Given the description of an element on the screen output the (x, y) to click on. 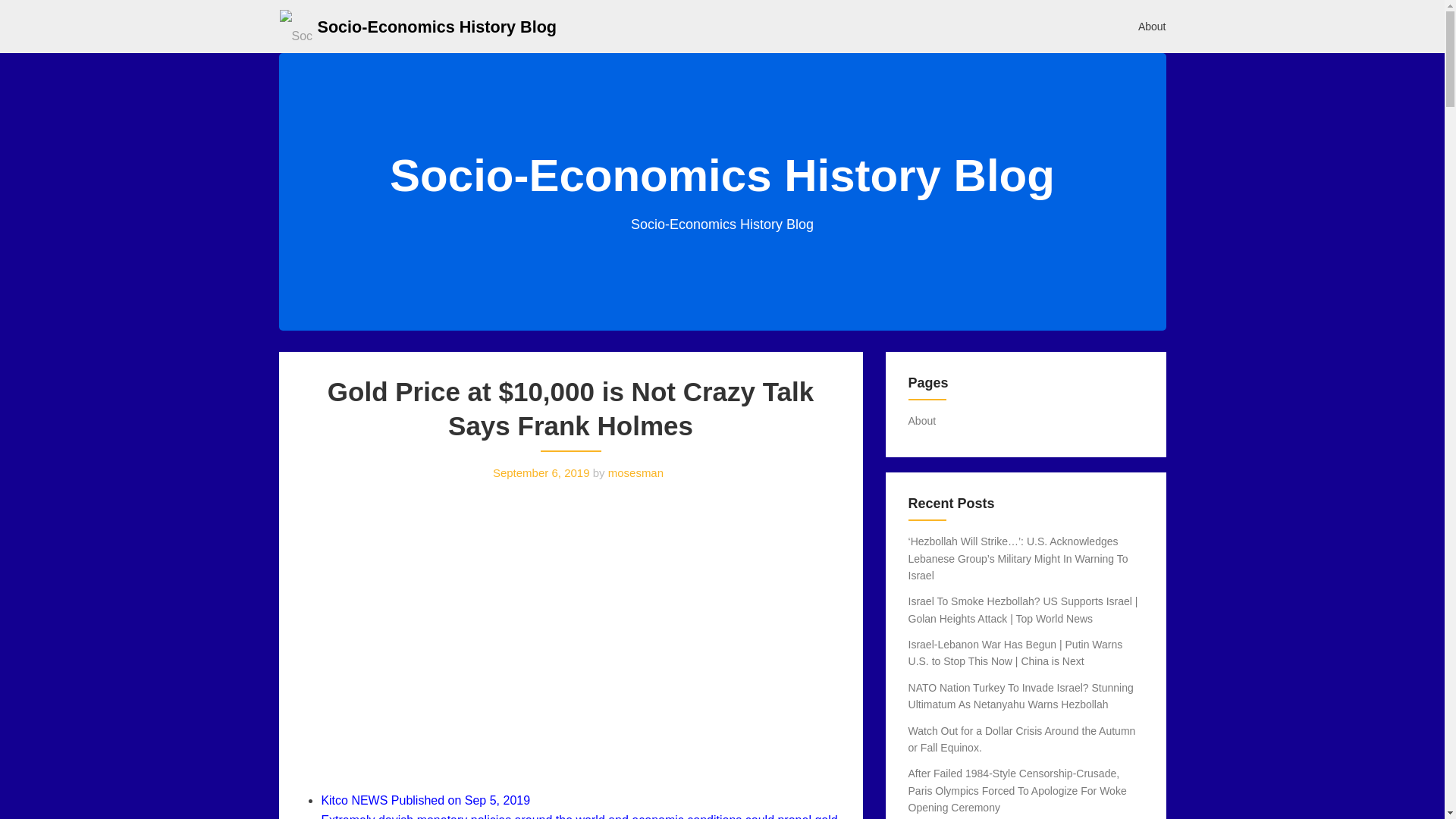
September 6, 2019 (541, 472)
About (922, 420)
Kitco NEWS (353, 799)
About (1151, 26)
Socio-Economics History Blog (436, 26)
